Given the description of an element on the screen output the (x, y) to click on. 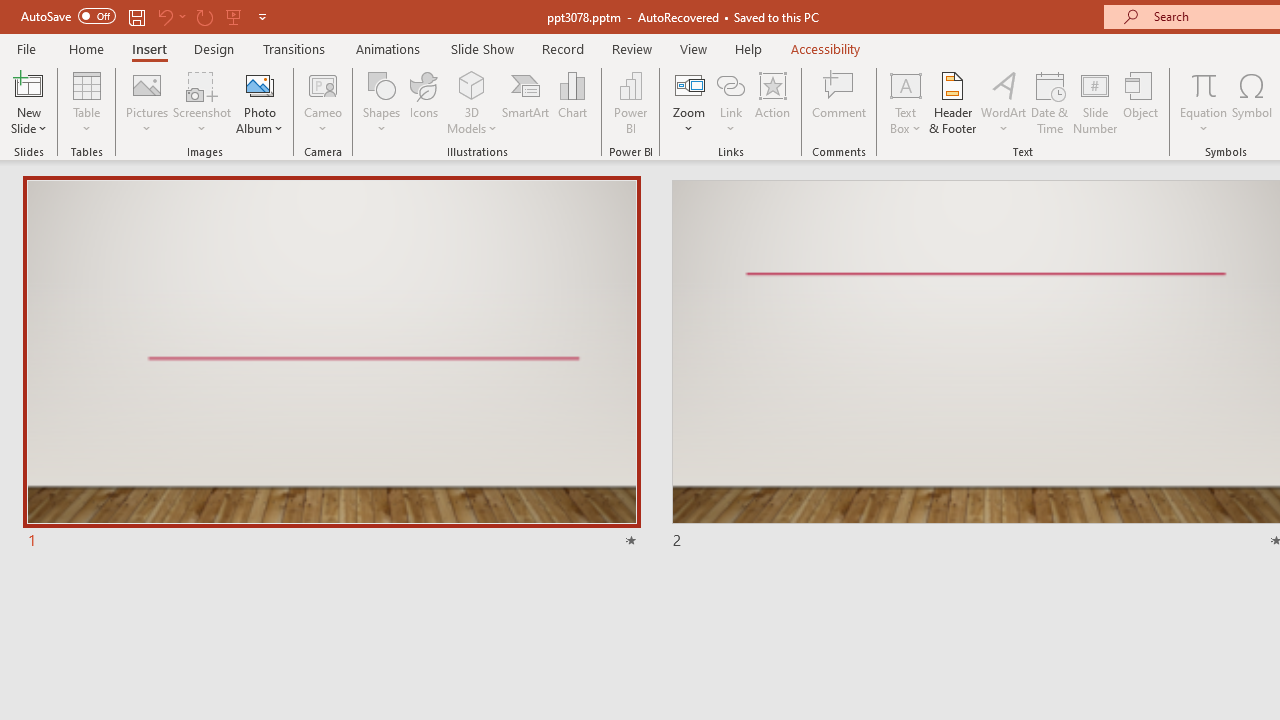
SmartArt... (525, 102)
Header & Footer... (952, 102)
Object... (1141, 102)
WordArt (1004, 102)
Screenshot (202, 102)
Photo Album... (259, 102)
